Given the description of an element on the screen output the (x, y) to click on. 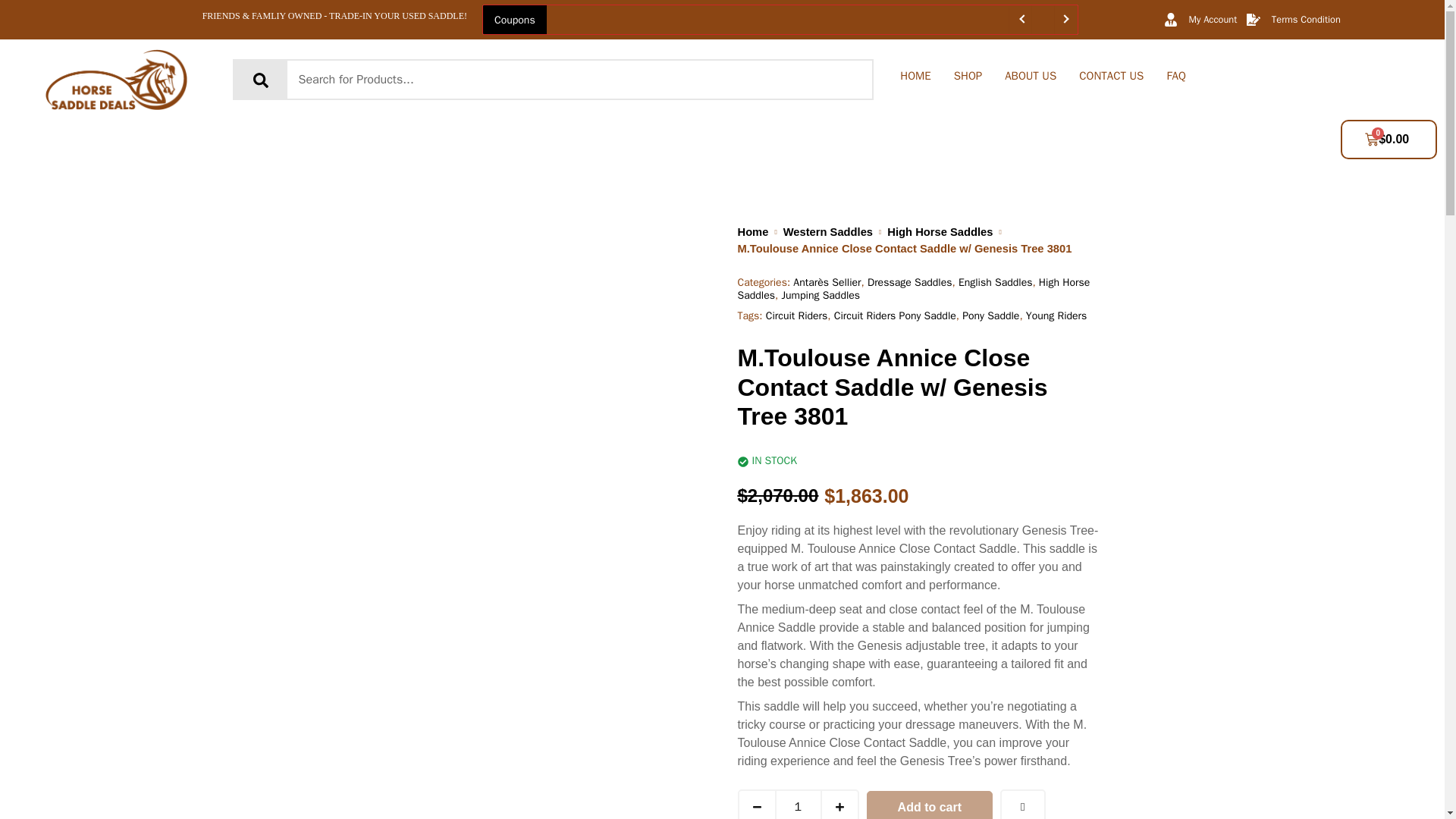
Add to Wishlist (1022, 804)
ABOUT US (1029, 75)
My Account (1199, 19)
High Horse Saddles (939, 231)
English Saddles (995, 282)
FAQ (1175, 75)
Home (752, 231)
HOME (915, 75)
Dressage Saddles (909, 282)
SHOP (967, 75)
